Given the description of an element on the screen output the (x, y) to click on. 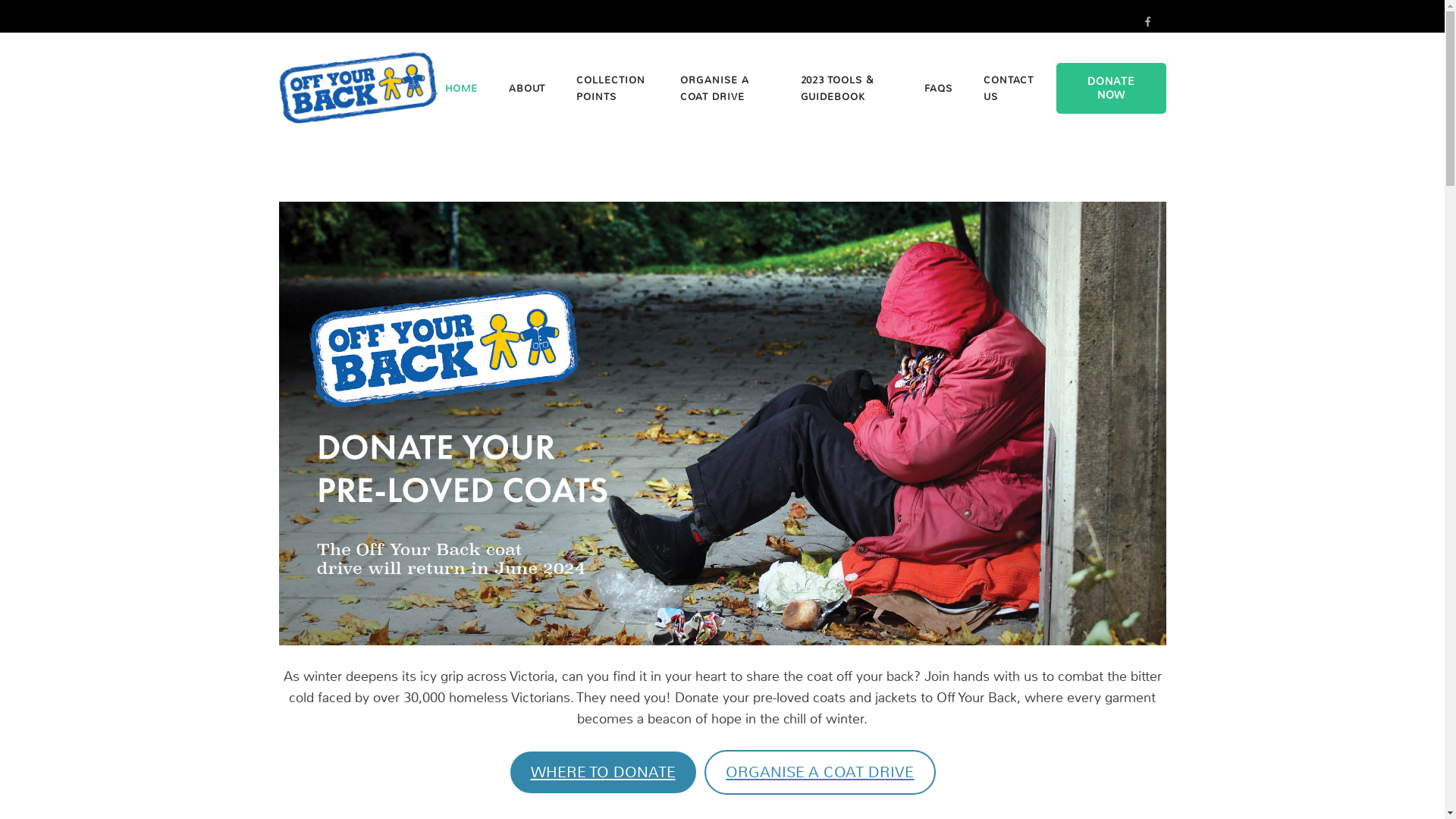
WHERE TO DONATE Element type: text (602, 771)
COLLECTION POINTS Element type: text (612, 88)
HOME Element type: text (461, 88)
Facebook Element type: hover (1147, 21)
ORGANISE A COAT DRIVE Element type: text (724, 88)
DONATE NOW Element type: text (1111, 87)
ABOUT Element type: text (526, 88)
CONTACT US Element type: text (1008, 88)
ORGANISE A COAT DRIVE Element type: text (819, 771)
2023 TOOLS & GUIDEBOOK Element type: text (846, 88)
OFF YOUR BACK Element type: text (523, 99)
FAQS Element type: text (938, 88)
Skip to content (Press Enter) Element type: text (0, 0)
